Given the description of an element on the screen output the (x, y) to click on. 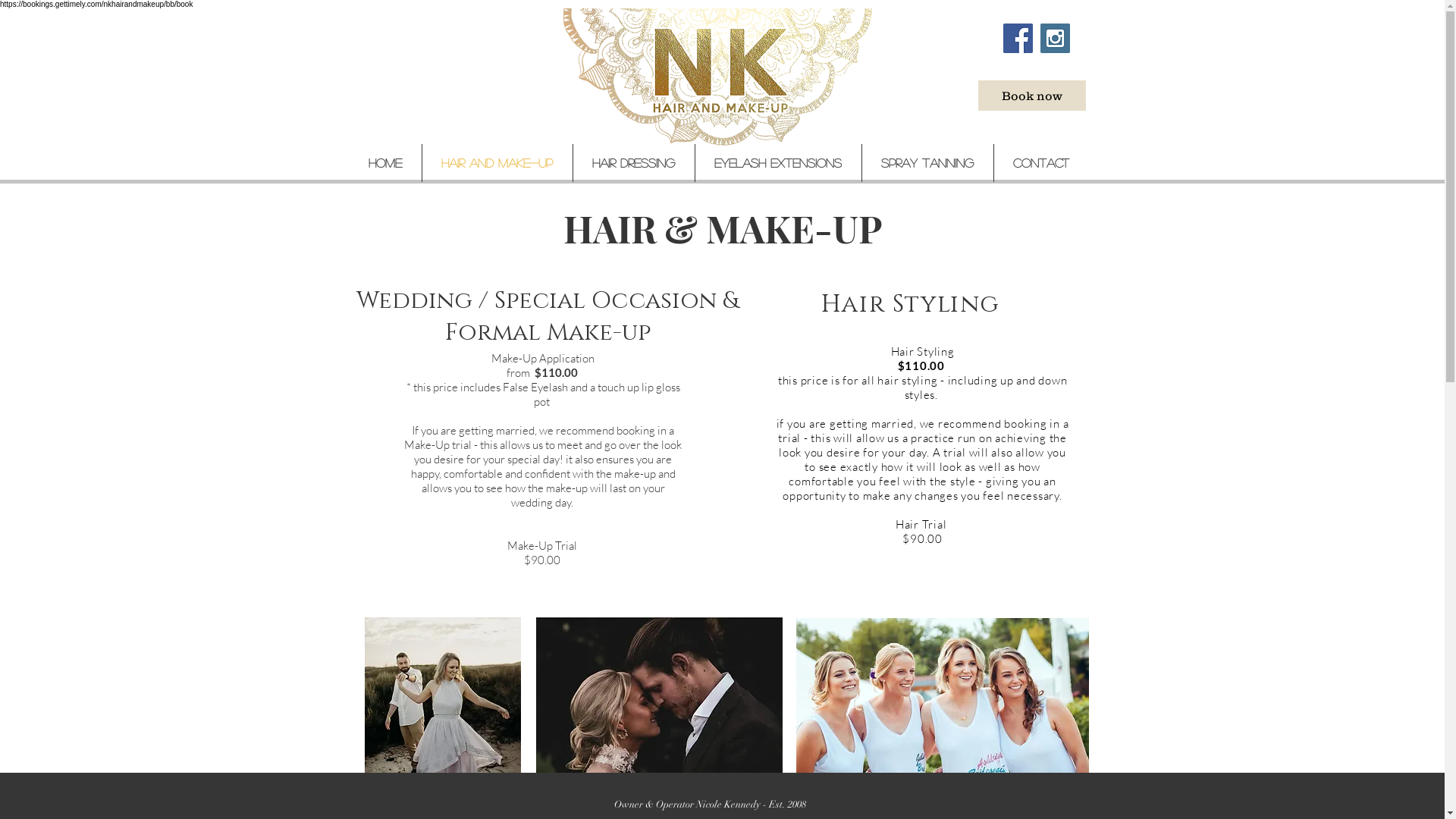
Home Element type: text (384, 163)
Contact Element type: text (1040, 163)
website backdrop.png Element type: hover (716, 77)
Spray Tanning Element type: text (926, 163)
Hair Dressing Element type: text (633, 163)
Book now Element type: text (1031, 95)
Hair and Make-Up Element type: text (496, 163)
Eyelash Extensions Element type: text (777, 163)
